Given the description of an element on the screen output the (x, y) to click on. 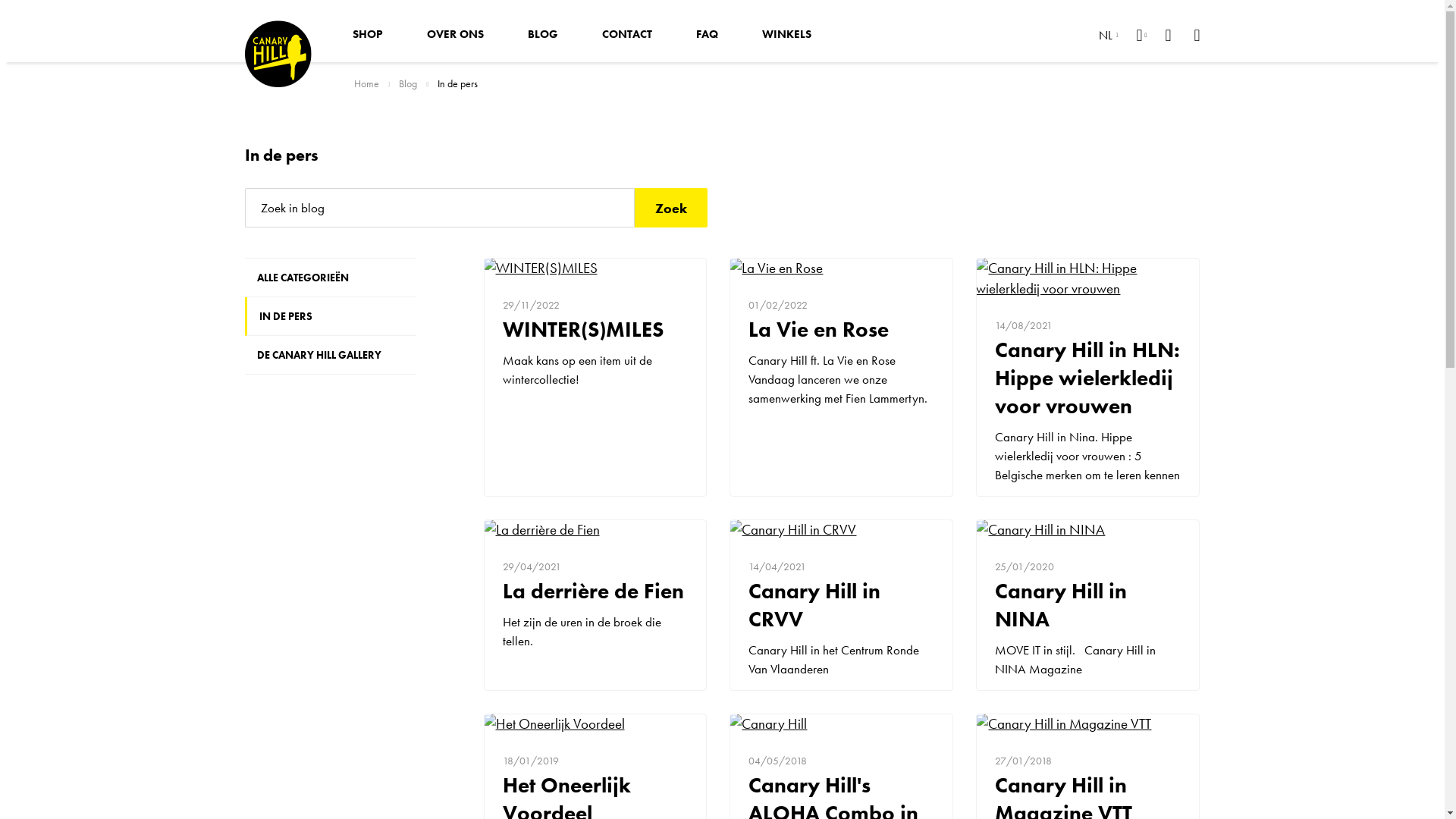
Canary Hill in NINA Element type: text (1087, 605)
Home Element type: text (366, 83)
La Vie en Rose Element type: hover (841, 267)
Blog Element type: text (407, 83)
FAQ Element type: text (705, 34)
BLOG Element type: text (541, 34)
WINTER(S)MILES Element type: text (594, 329)
Canary Hill in CRVV Element type: text (841, 605)
Mijn account Element type: text (1140, 33)
Verlanglijst Element type: text (1167, 33)
SHOP Element type: text (367, 34)
WINKELS Element type: text (786, 34)
Canary Hill in Magazine VTT Element type: hover (1087, 723)
Canary Hill in HLN: Hippe wielerkledij voor vrouwen Element type: text (1087, 377)
CONTACT Element type: text (625, 34)
DE CANARY HILL GALLERY Element type: text (330, 354)
Canary Hill in NINA Element type: hover (1087, 529)
Zoek Element type: text (669, 207)
Winkelwagen Element type: text (1196, 33)
Canary Hill Element type: hover (841, 723)
Het Oneerlijk Voordeel Element type: hover (595, 723)
La Vie en Rose Element type: text (841, 329)
Canary Hill in CRVV Element type: hover (841, 529)
WINTER(S)MILES Element type: hover (595, 267)
OVER ONS Element type: text (455, 34)
Canary Hill in HLN: Hippe wielerkledij voor vrouwen Element type: hover (1087, 277)
